Given the description of an element on the screen output the (x, y) to click on. 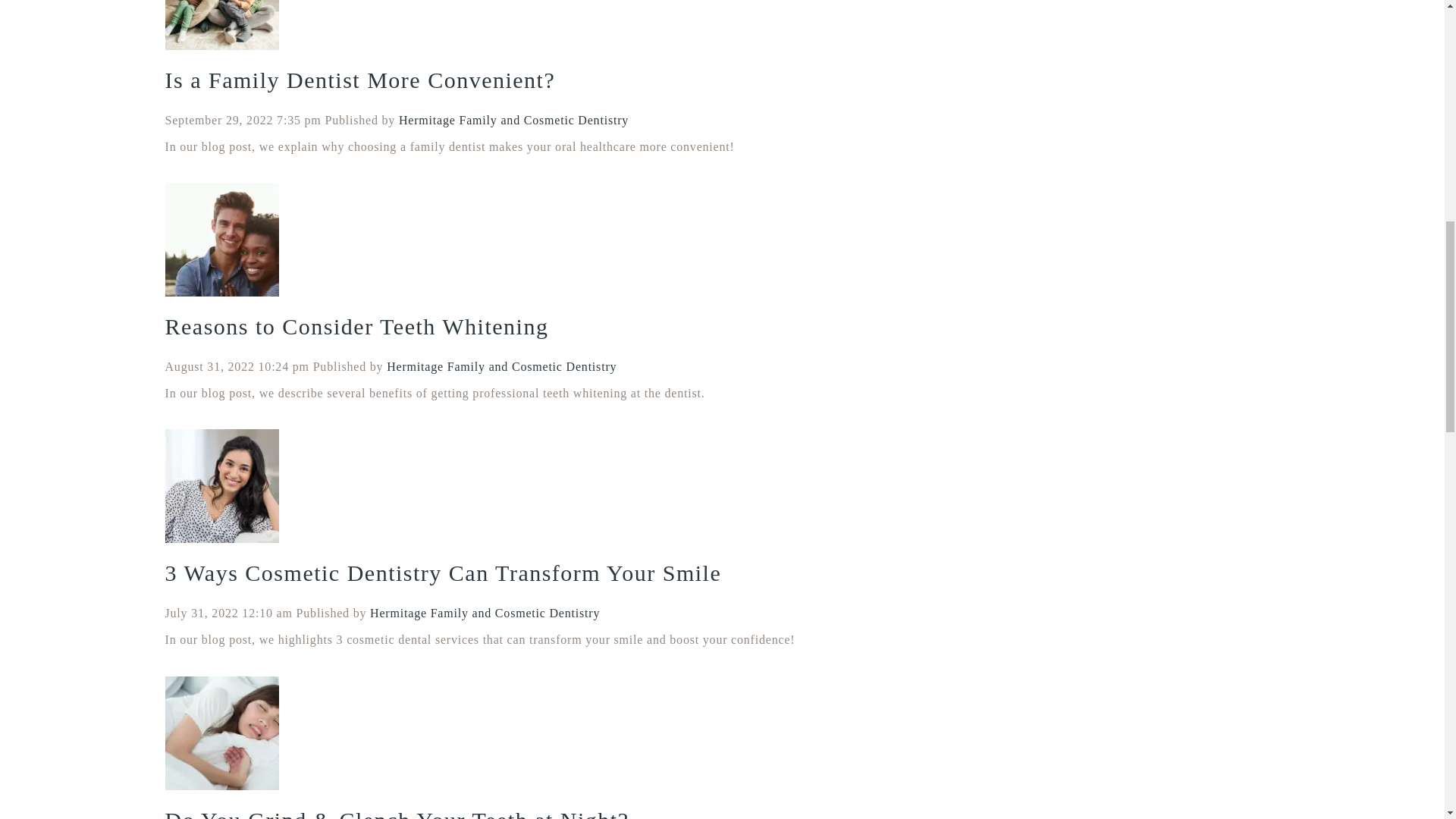
Hermitage Family and Cosmetic Dentistry (501, 366)
Hermitage Family and Cosmetic Dentistry (484, 612)
Is a Family Dentist More Convenient? (360, 79)
Reasons to Consider Teeth Whitening (356, 326)
Reasons to Consider Teeth Whitening (356, 326)
Is a Family Dentist More Convenient? (360, 79)
Posts by Hermitage Family and Cosmetic Dentistry (484, 612)
3 Ways Cosmetic Dentistry Can Transform Your Smile (443, 572)
Hermitage Family and Cosmetic Dentistry (513, 119)
3 Ways Cosmetic Dentistry Can Transform Your Smile (222, 490)
